Given the description of an element on the screen output the (x, y) to click on. 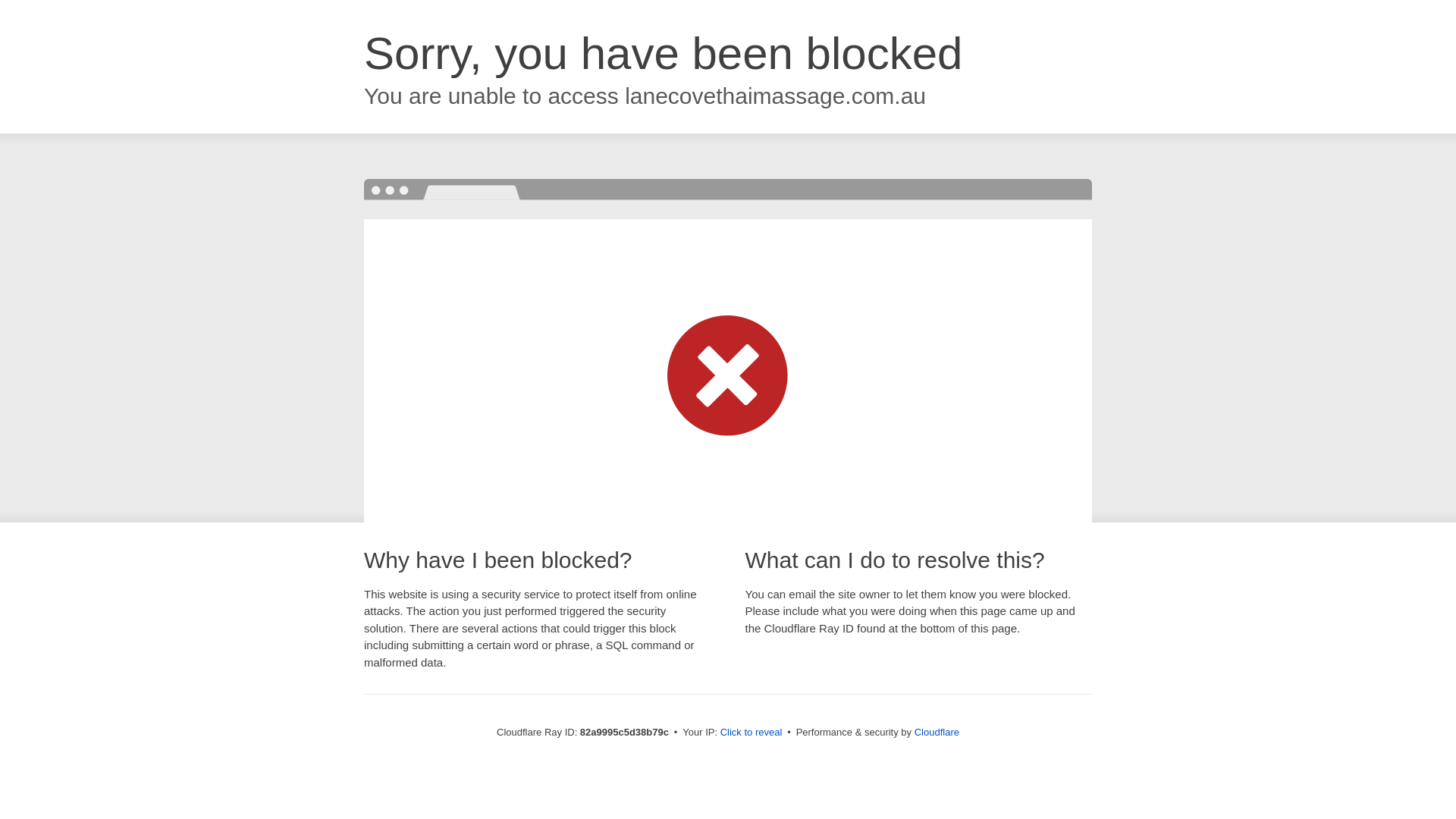
Click to reveal Element type: text (751, 732)
Cloudflare Element type: text (936, 731)
